Given the description of an element on the screen output the (x, y) to click on. 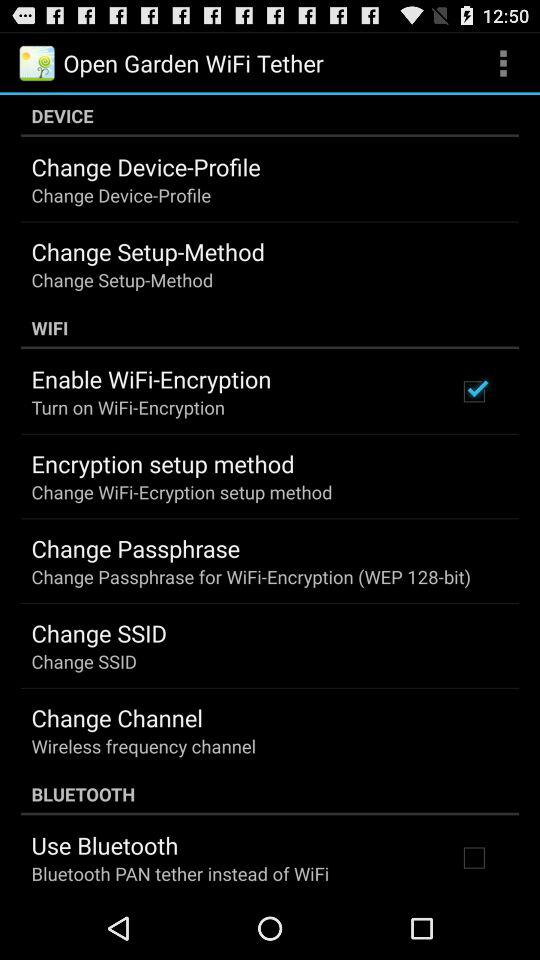
flip until bluetooth pan tether item (180, 873)
